Given the description of an element on the screen output the (x, y) to click on. 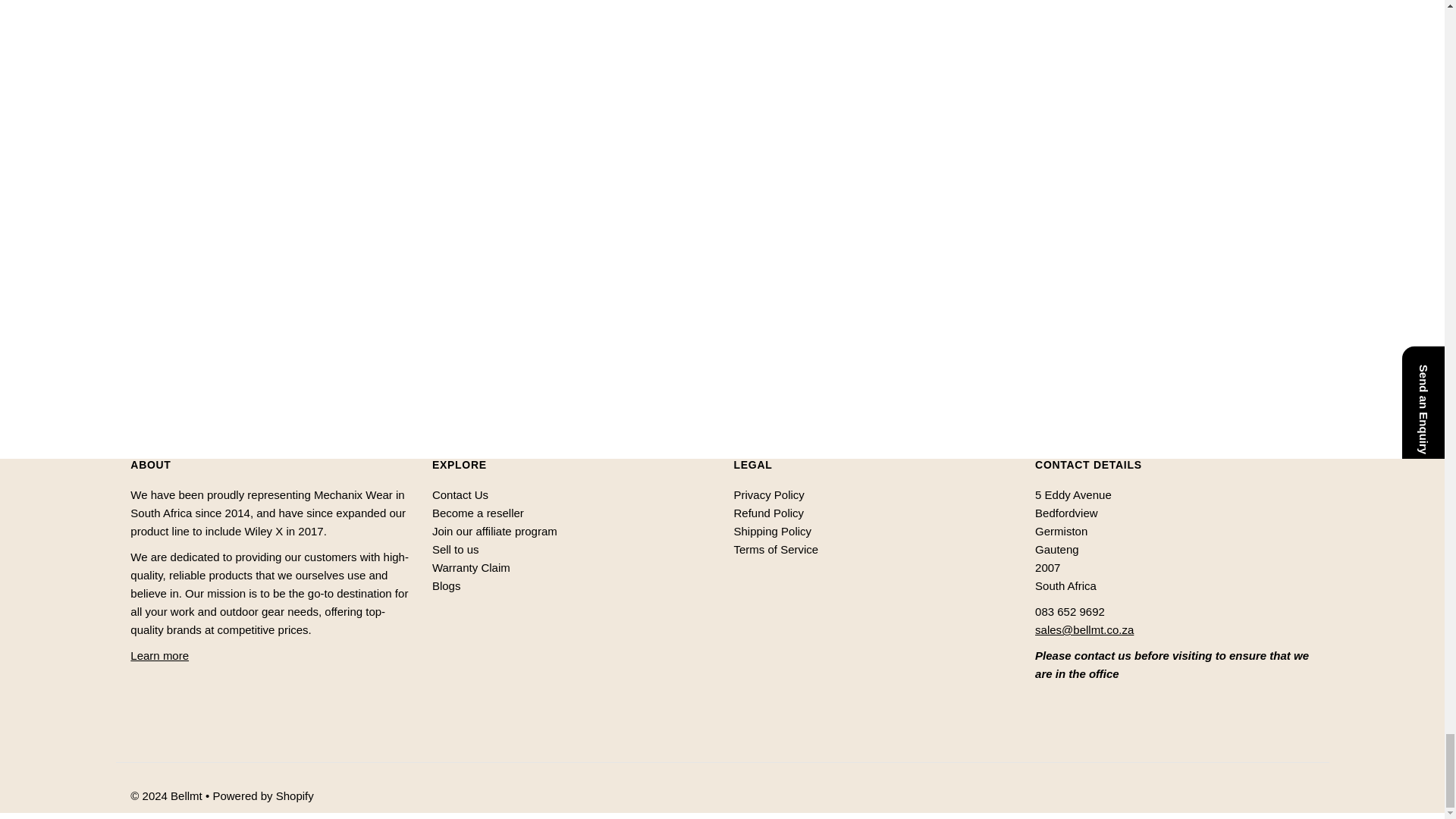
About Us (160, 655)
